Given the description of an element on the screen output the (x, y) to click on. 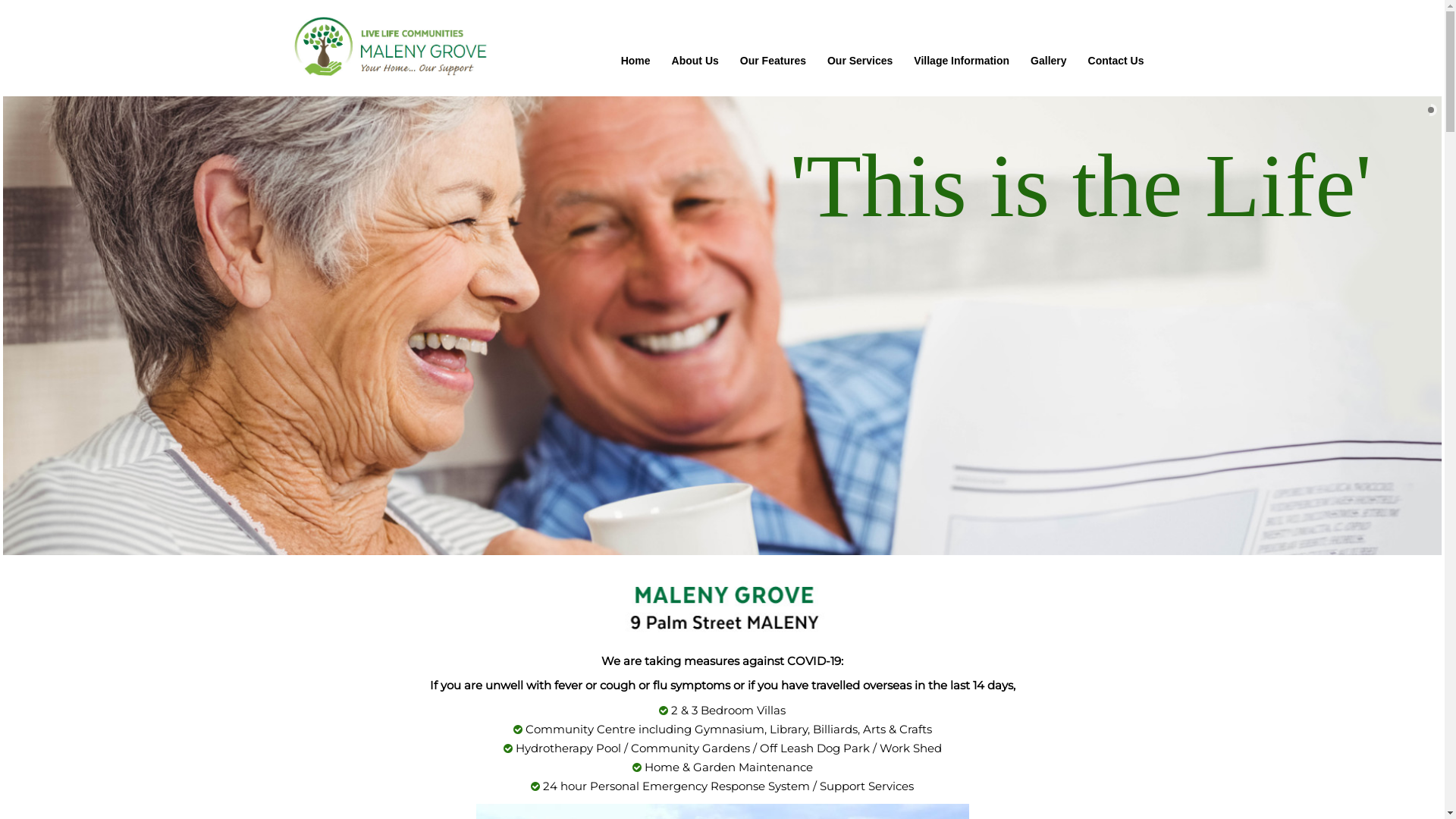
Home Element type: text (635, 60)
Contact Us Element type: text (1115, 60)
Village Information Element type: text (961, 60)
Our Features Element type: text (772, 60)
About Us Element type: text (695, 60)
Our Services Element type: text (859, 60)
Gallery Element type: text (1047, 60)
